Given the description of an element on the screen output the (x, y) to click on. 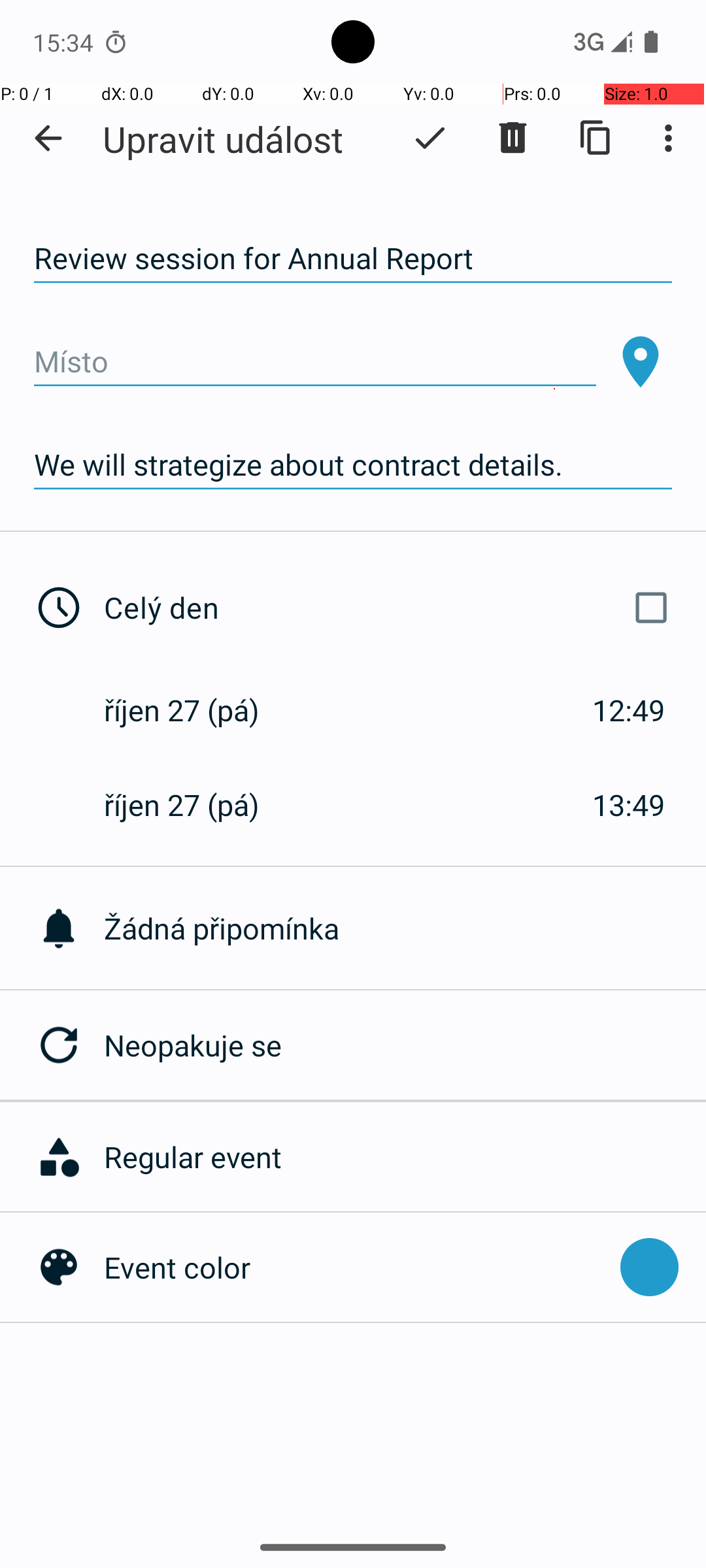
Upravit událost Element type: android.widget.TextView (222, 138)
Uložit Element type: android.widget.Button (429, 137)
Smazat Element type: android.widget.Button (512, 137)
Zkopírovat událost Element type: android.widget.Button (595, 137)
Místo Element type: android.widget.EditText (314, 361)
We will strategize about contract details. Element type: android.widget.EditText (352, 465)
říjen 27 (pá) Element type: android.widget.TextView (194, 709)
12:49 Element type: android.widget.TextView (628, 709)
13:49 Element type: android.widget.TextView (628, 804)
Žádná připomínka Element type: android.widget.TextView (404, 927)
Neopakuje se Element type: android.widget.TextView (404, 1044)
Celý den Element type: android.widget.CheckBox (390, 607)
